Given the description of an element on the screen output the (x, y) to click on. 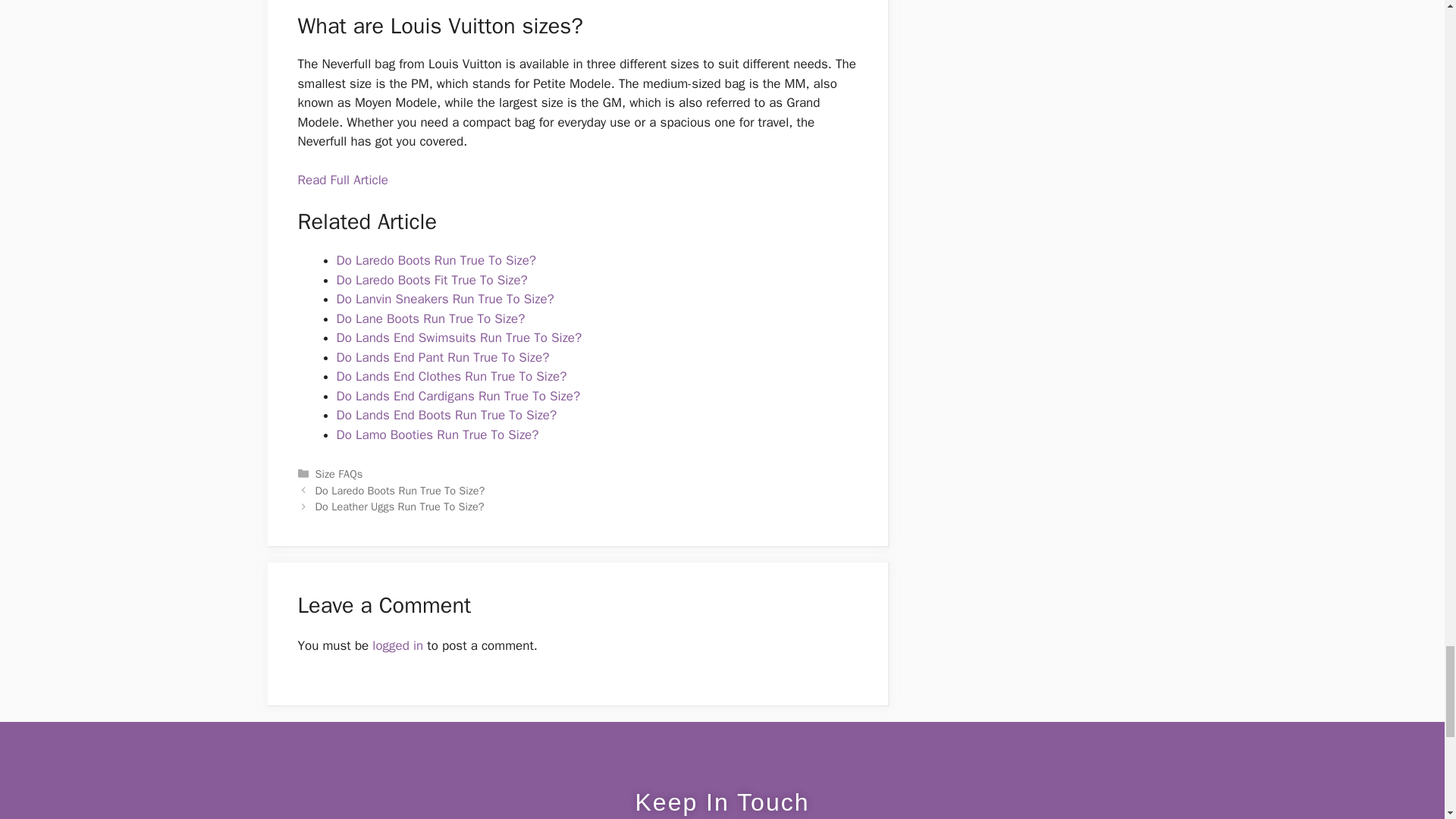
Do Lanvin Sneakers Run True To Size? (445, 299)
Size FAQs (338, 473)
Do Lamo Booties Run True To Size? (437, 434)
Do Lands End Pant Run True To Size? (443, 357)
Do Lane Boots Run True To Size? (430, 318)
Do Lands End Boots Run True To Size? (446, 415)
Do Laredo Boots Fit True To Size? (431, 279)
Do Laredo Boots Run True To Size? (399, 490)
Do Lands End Swimsuits Run True To Size? (459, 337)
Do Laredo Boots Run True To Size? (435, 260)
